Given the description of an element on the screen output the (x, y) to click on. 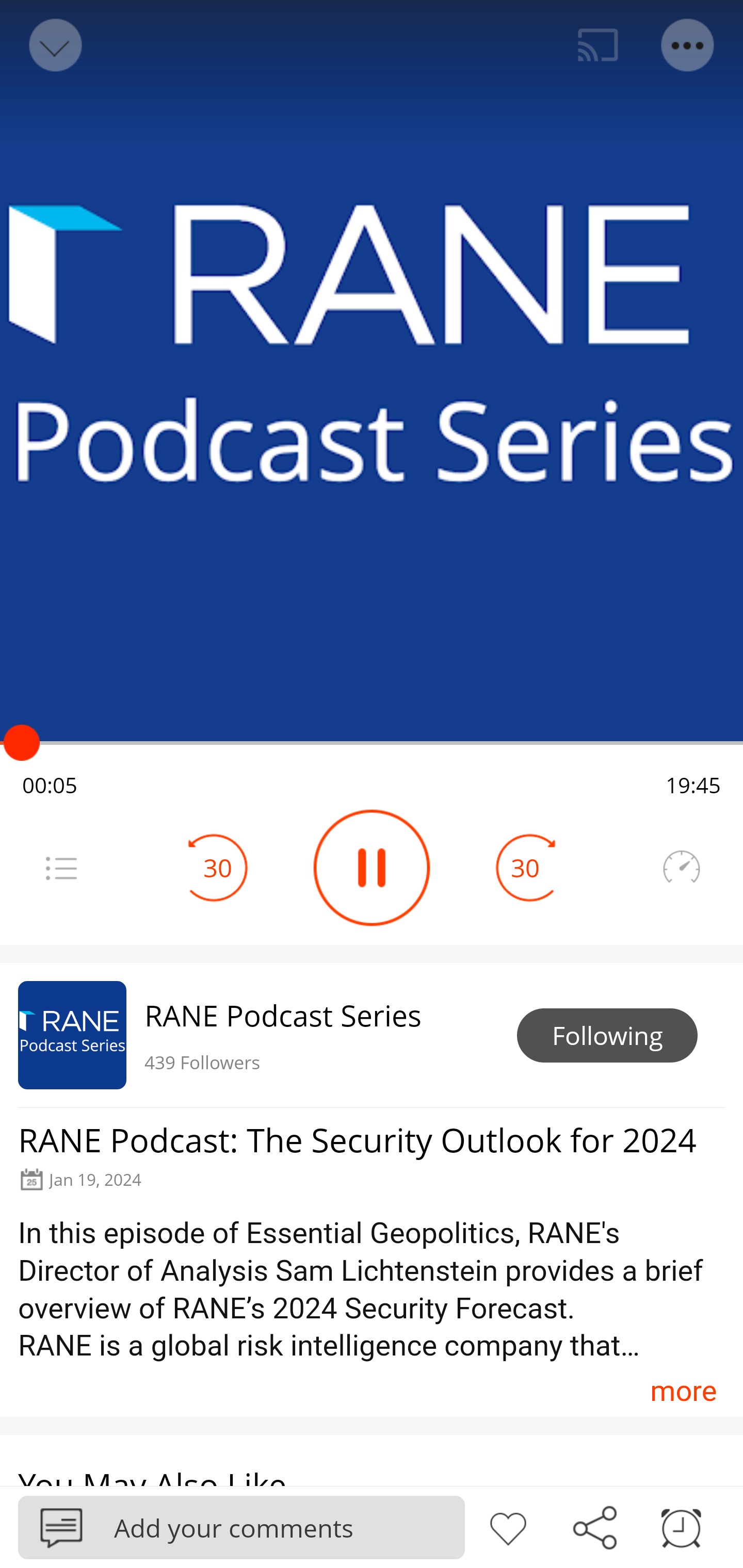
Back (53, 45)
Cast. Disconnected (597, 45)
Menu (688, 45)
Play (371, 867)
30 Seek Backward (217, 867)
30 Seek Forward (525, 867)
Menu (60, 867)
Speedometer (681, 867)
RANE Podcast Series 439 Followers Following (371, 1034)
Following (607, 1035)
more (682, 1390)
Like (508, 1526)
Share (594, 1526)
Sleep timer (681, 1526)
Podbean Add your comments (241, 1526)
